Given the description of an element on the screen output the (x, y) to click on. 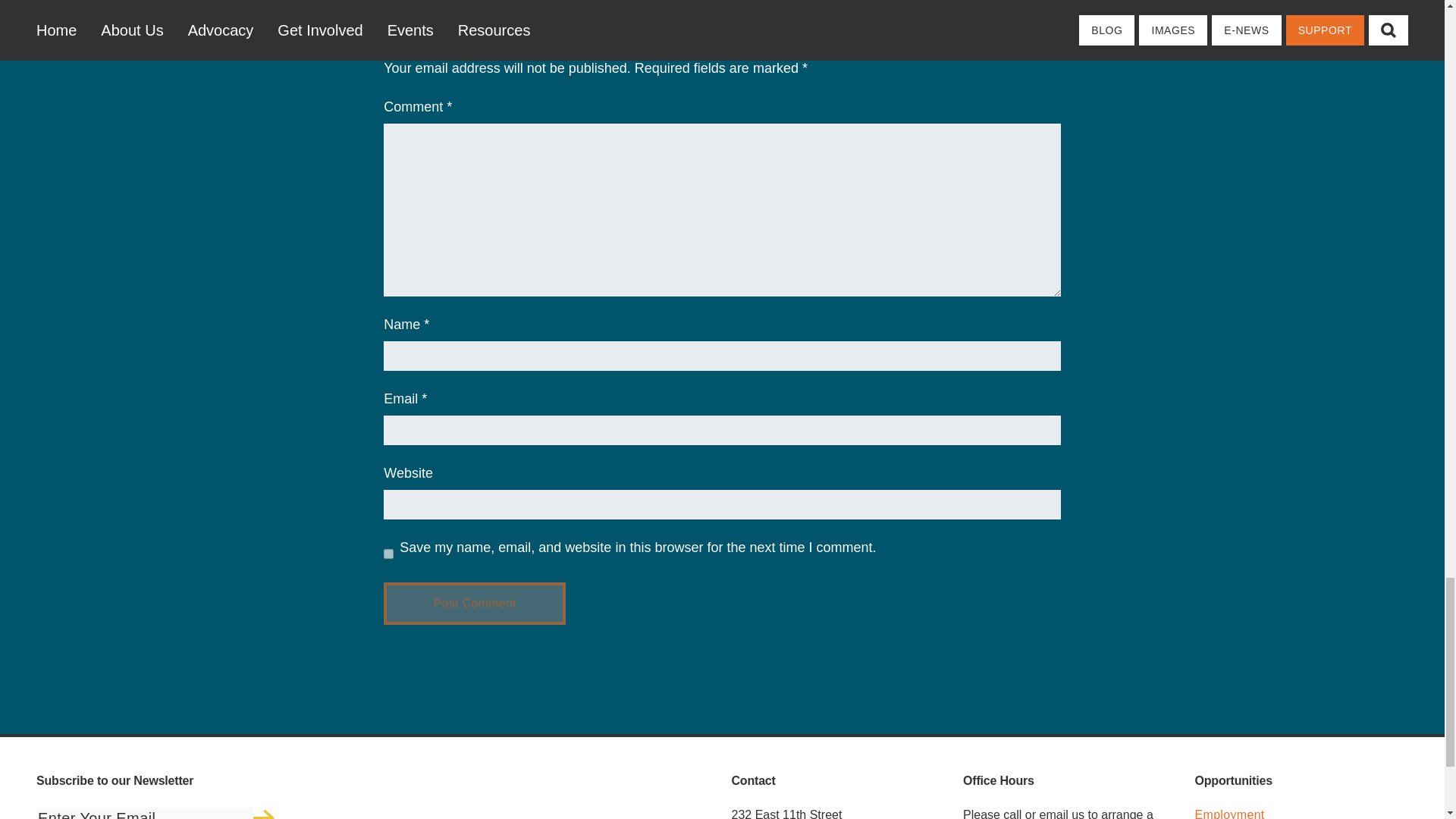
Post Comment (475, 603)
